Given the description of an element on the screen output the (x, y) to click on. 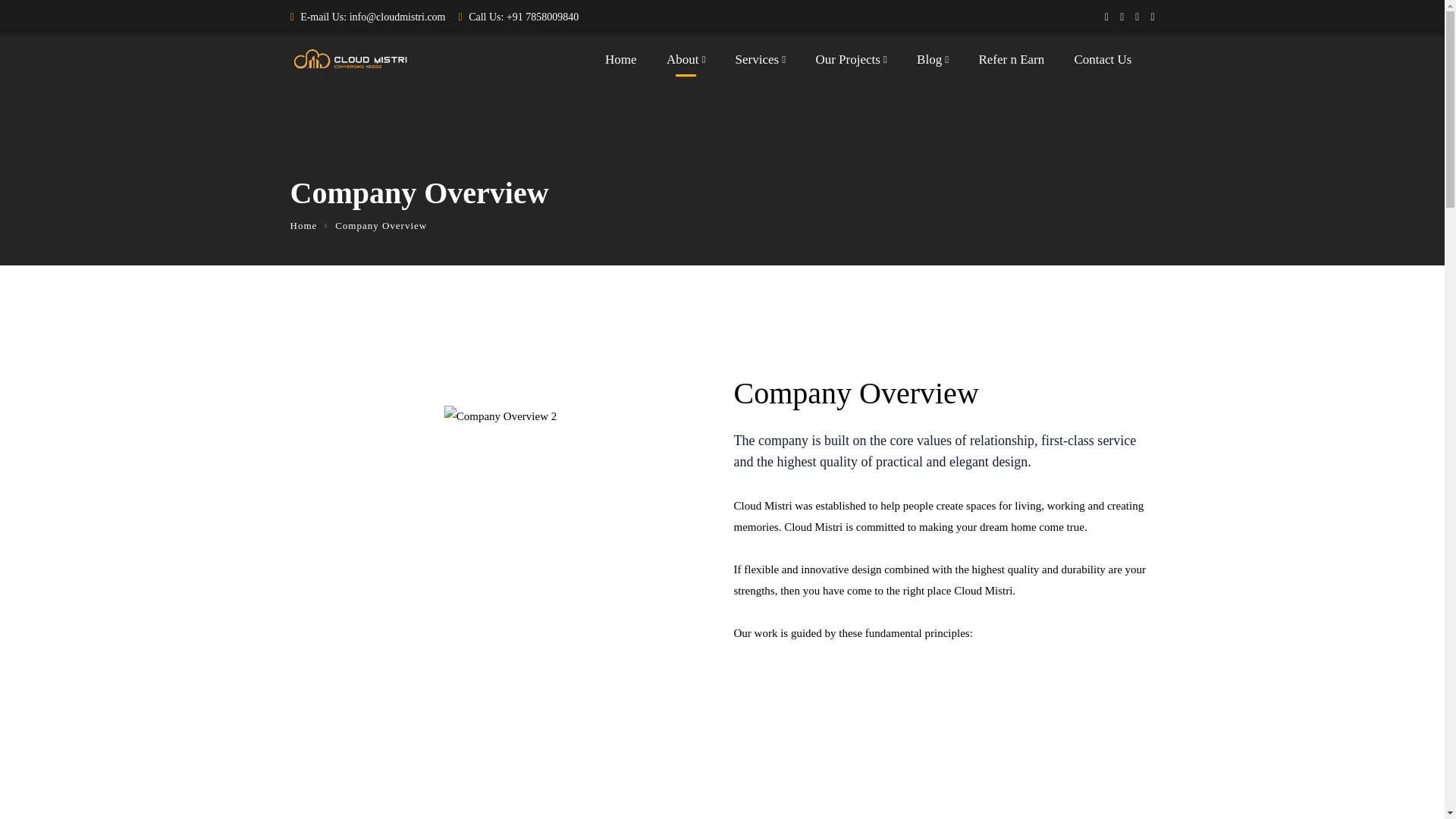
Blog (933, 62)
Our Projects (850, 62)
Home (621, 62)
About (685, 62)
Company Overview 1 (500, 415)
Services (760, 62)
Contact Us (1102, 62)
Refer n Earn (1010, 62)
Home (303, 225)
